Given the description of an element on the screen output the (x, y) to click on. 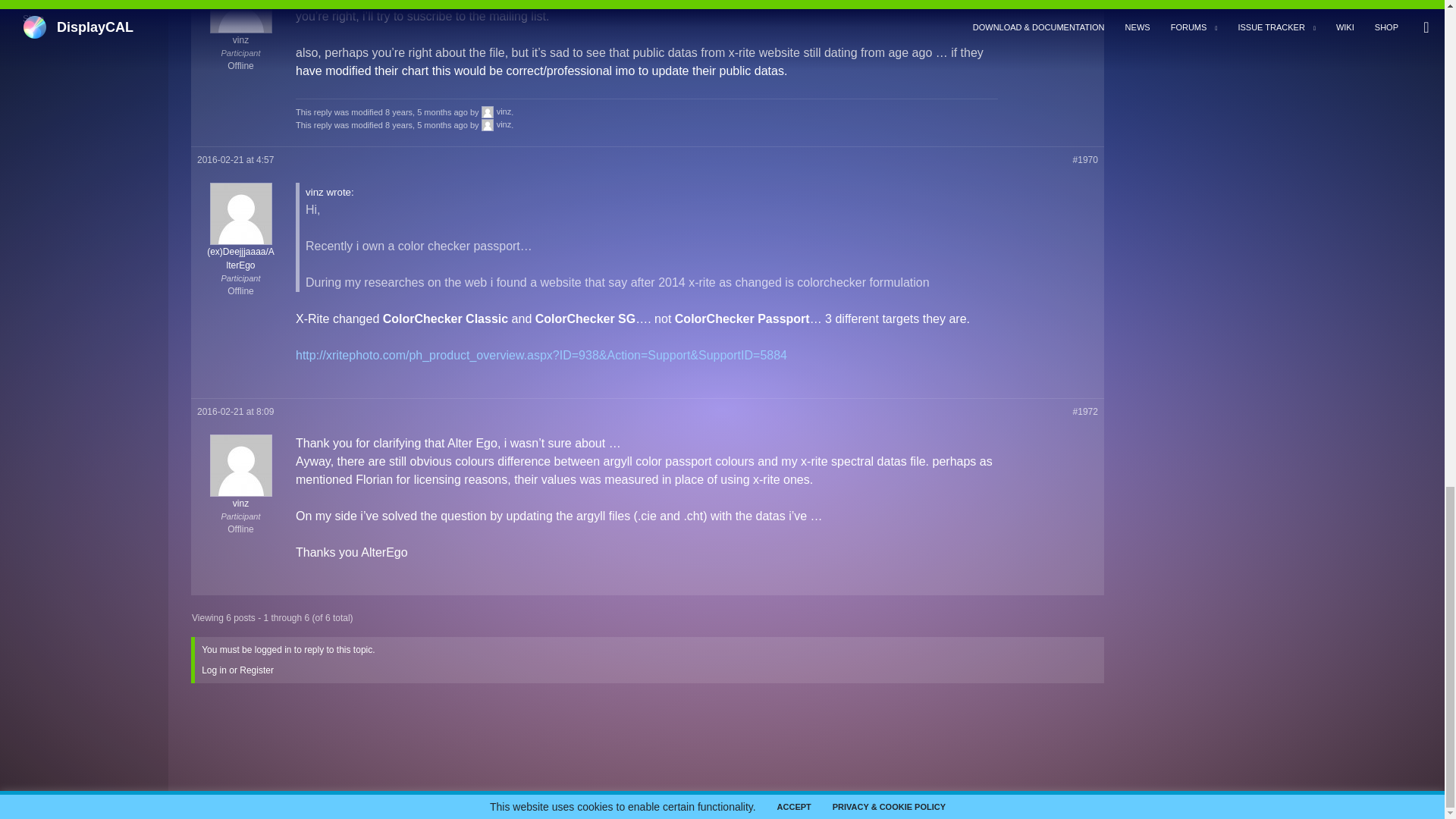
View vinz's profile (496, 123)
vinz (646, 236)
View vinz's profile (239, 33)
vinz (496, 111)
vinz (239, 33)
View vinz's profile (496, 111)
View vinz's profile (239, 497)
vinz (496, 123)
